Given the description of an element on the screen output the (x, y) to click on. 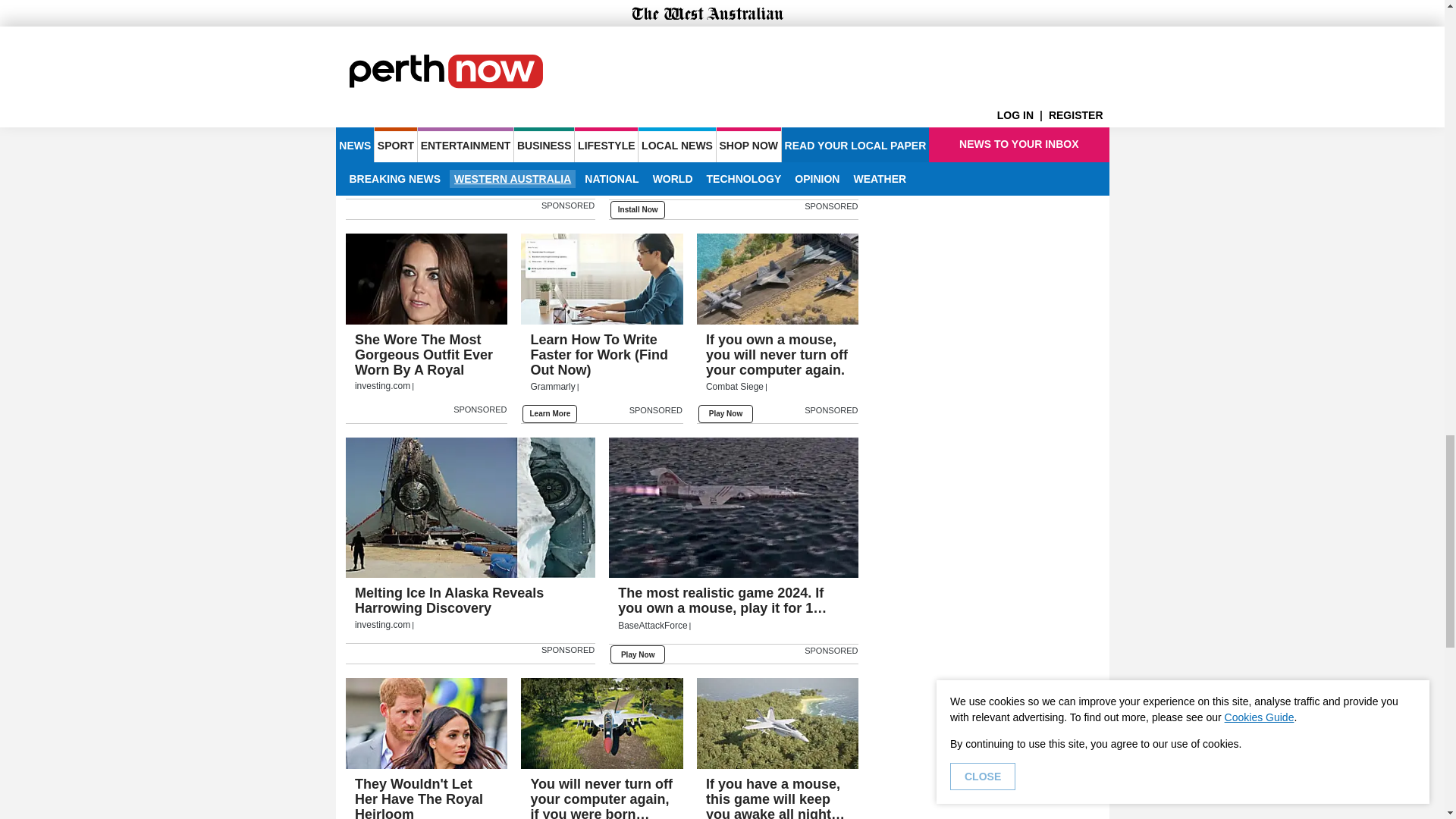
She Wore The Most Gorgeous Outfit Ever Worn By A Royal (427, 363)
She Wore The Most Gorgeous Outfit Ever Worn By A Royal (427, 278)
